Given the description of an element on the screen output the (x, y) to click on. 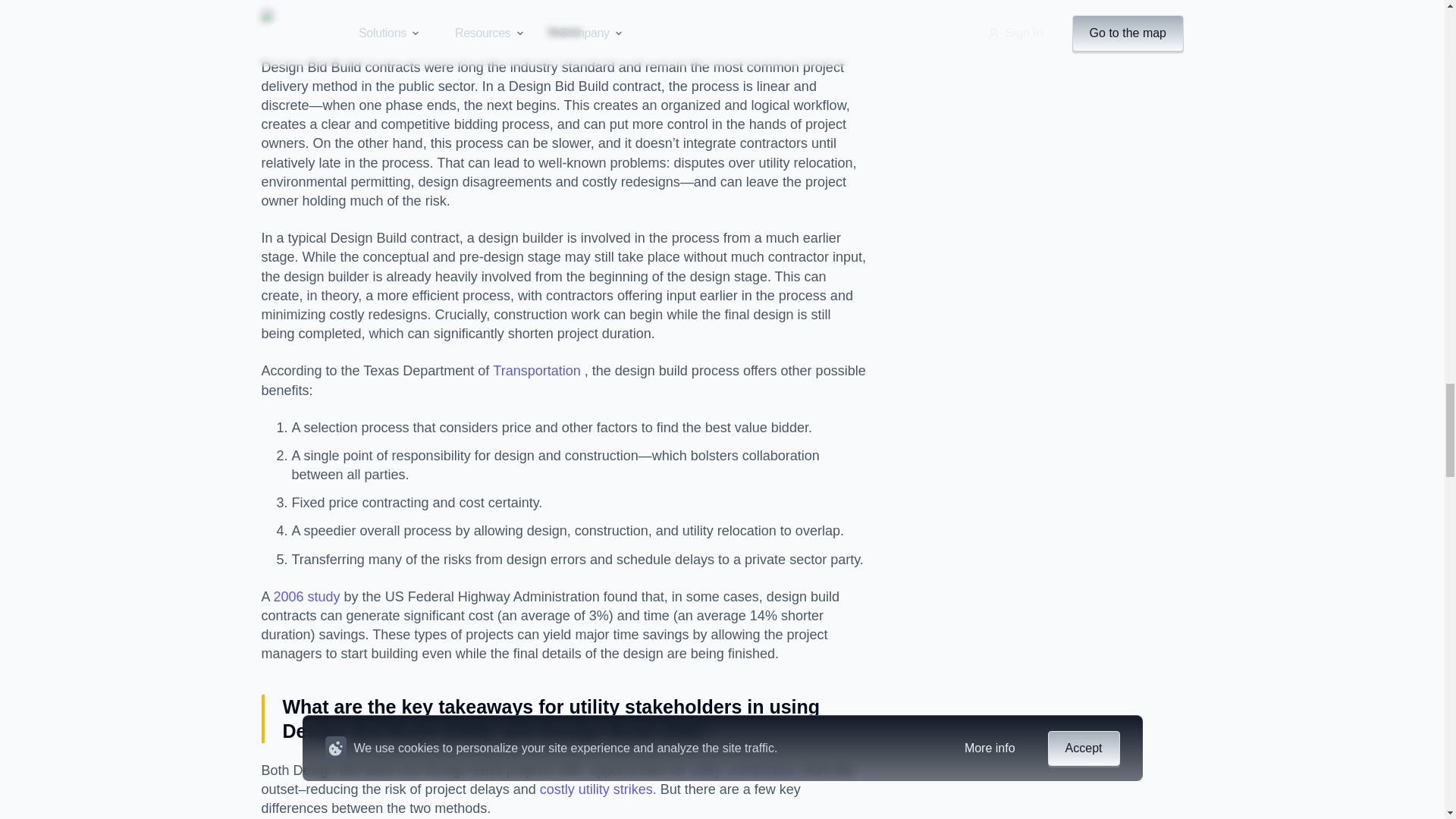
Transportation (538, 370)
utility coordination (744, 770)
costly utility strikes. (598, 789)
2006 study (306, 596)
